Given the description of an element on the screen output the (x, y) to click on. 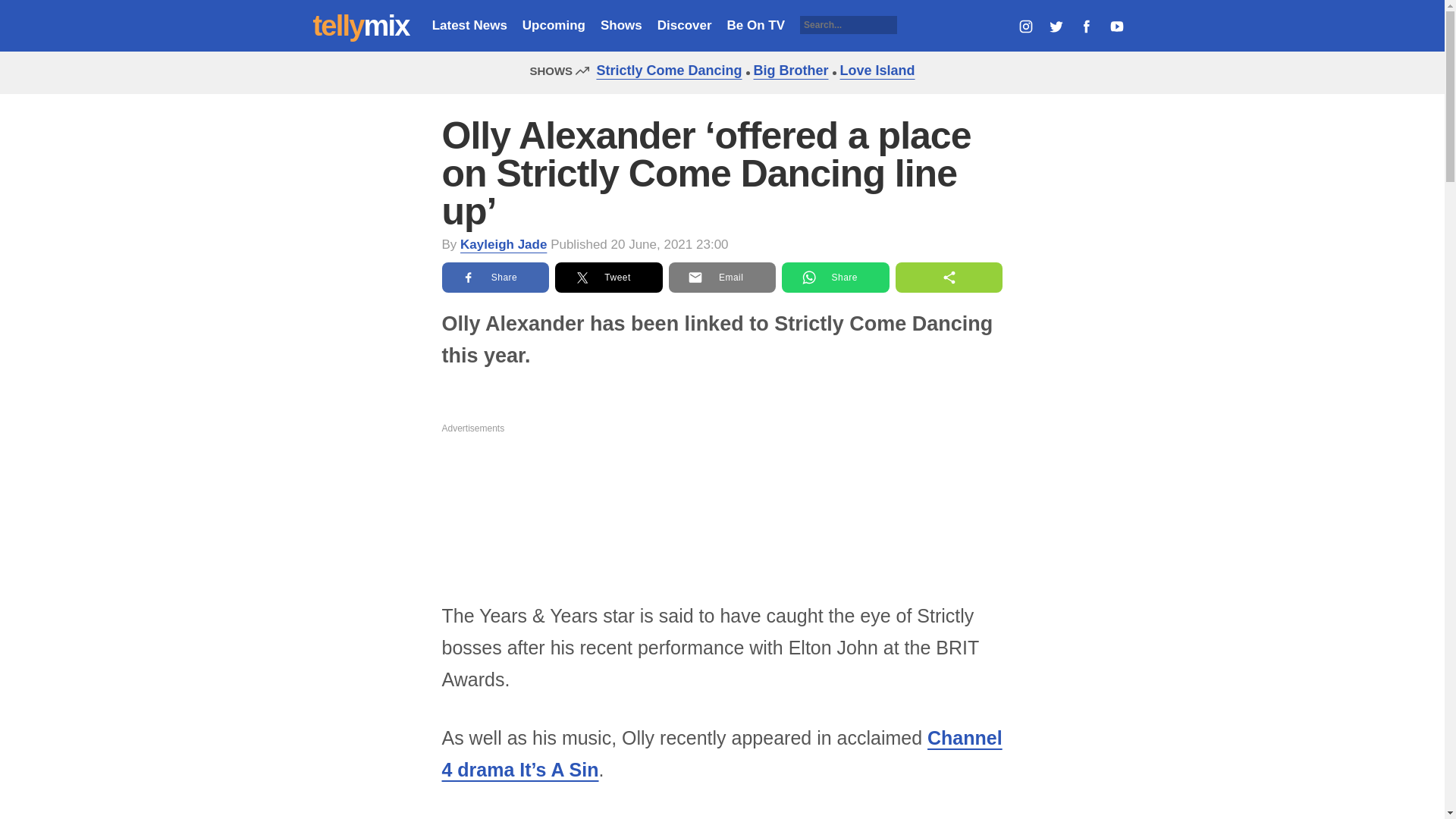
Strictly Come Dancing (664, 70)
Upcoming (553, 25)
Big Brother (786, 70)
tellymix (361, 25)
Latest News (469, 25)
Advertisement (722, 506)
Discover (684, 25)
Kayleigh Jade (503, 244)
Shows (620, 25)
